Given the description of an element on the screen output the (x, y) to click on. 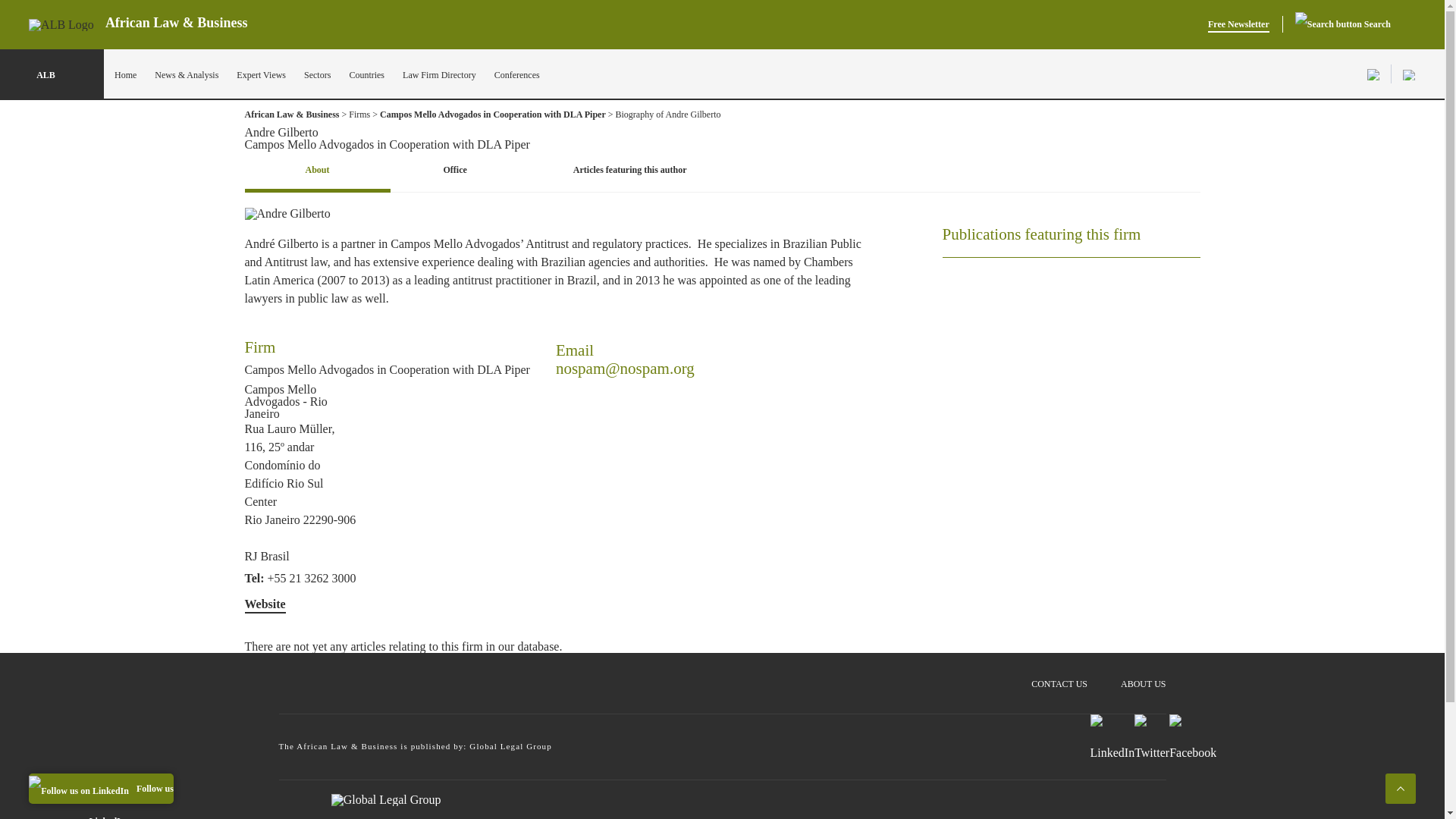
Campos Mello Advogados in Cooperation with DLA Piper (492, 117)
Website (264, 604)
Andre Gilberto (287, 214)
Conferences (517, 74)
CONTACT US (1058, 676)
Articles featuring this author (629, 171)
About (317, 171)
Campos Mello Advogados in Cooperation with DLA Piper (386, 370)
ABOUT US (1143, 676)
Search (1342, 24)
Follow us on LinkedIn (101, 788)
Office (454, 171)
Free Newsletter (1238, 24)
Expert Views (260, 74)
Law Firm Directory (439, 74)
